Given the description of an element on the screen output the (x, y) to click on. 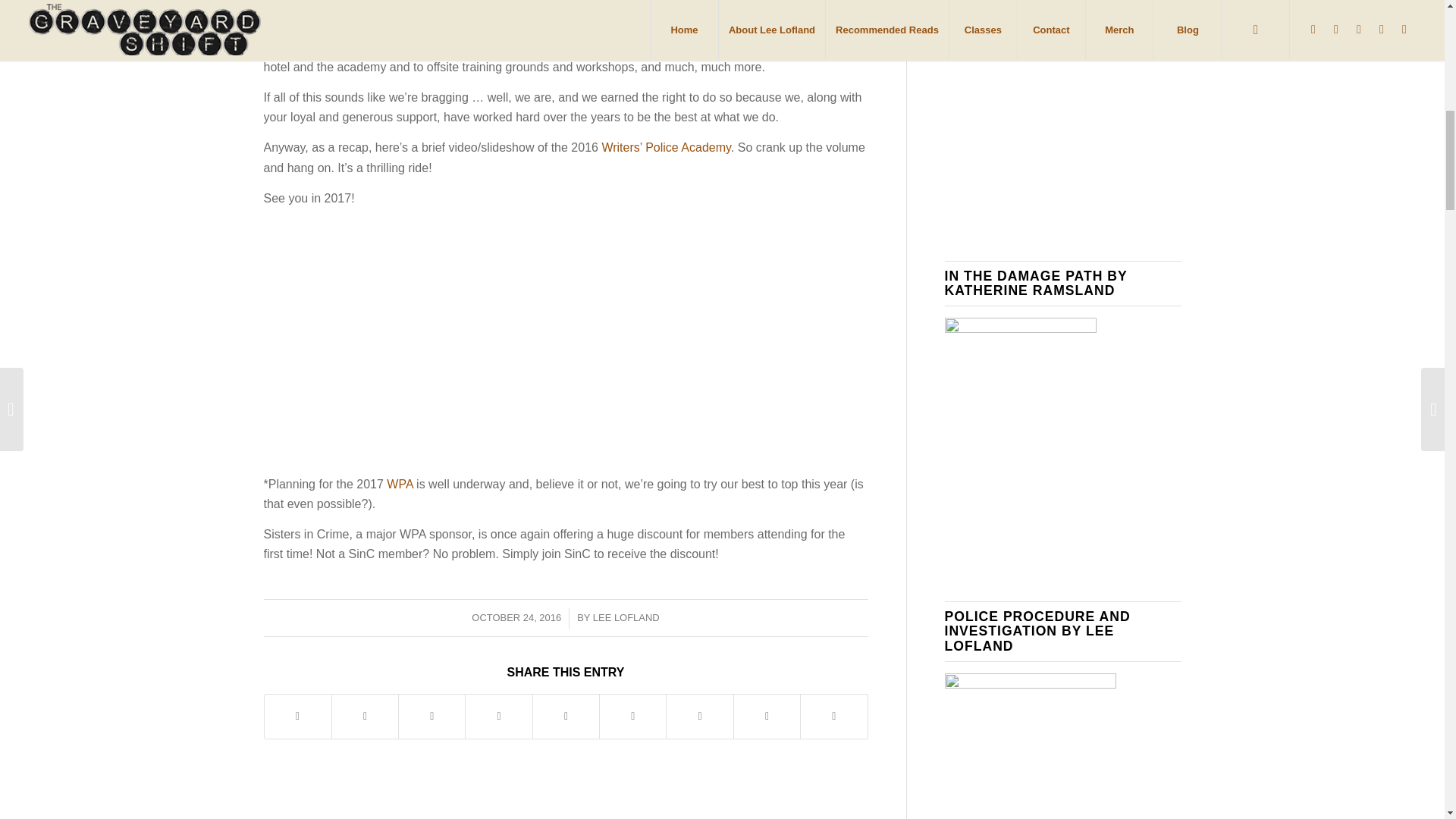
WPA (399, 483)
LEE LOFLAND (625, 617)
Posts by Lee Lofland (625, 617)
